Given the description of an element on the screen output the (x, y) to click on. 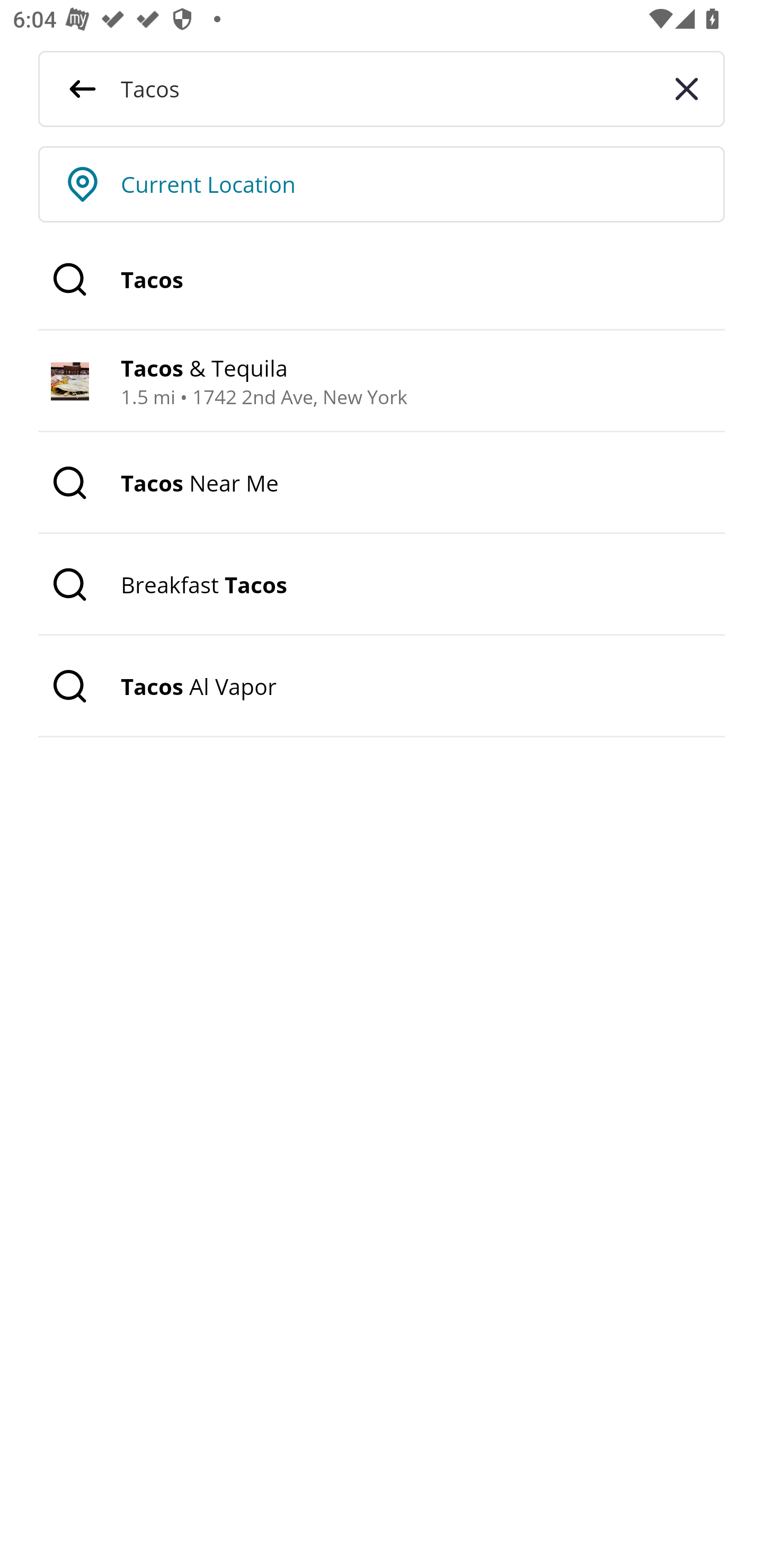
Tacos (381, 279)
